Given the description of an element on the screen output the (x, y) to click on. 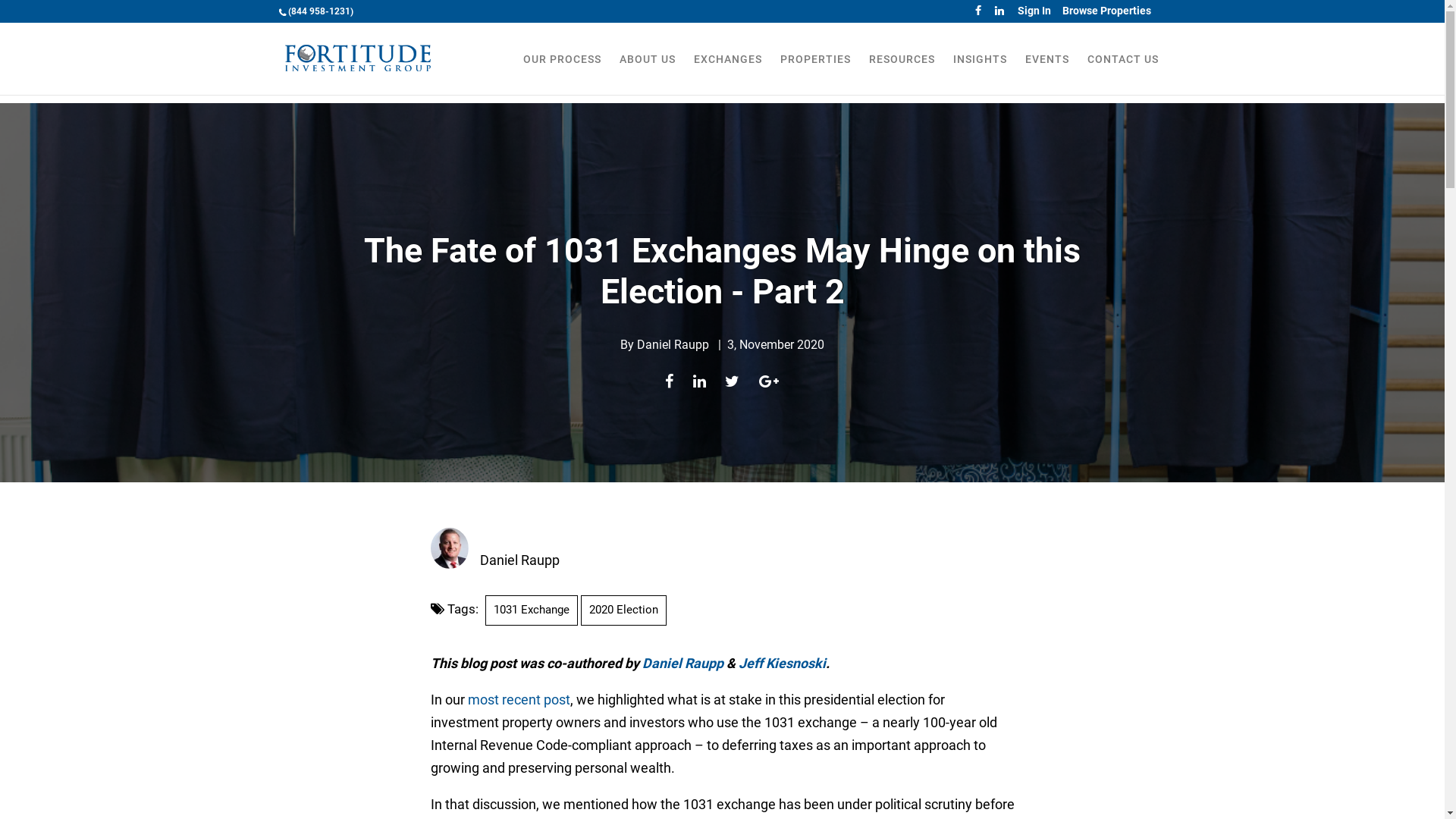
Sign In Element type: text (1034, 10)
INSIGHTS Element type: text (979, 72)
EVENTS Element type: text (1047, 72)
Jeff Kiesnoski Element type: text (781, 663)
ABOUT US Element type: text (646, 72)
1031 Exchange Element type: text (531, 610)
Daniel Raupp Element type: text (683, 663)
Frotitude-Invesment-Group Element type: hover (357, 57)
  Element type: text (1000, 10)
OUR PROCESS Element type: text (562, 72)
most recent post Element type: text (518, 699)
Daniel Raupp Element type: text (673, 344)
RESOURCES Element type: text (902, 72)
2020 Election Element type: text (623, 610)
  Element type: text (979, 10)
EXCHANGES Element type: text (727, 72)
CONTACT US Element type: text (1122, 72)
Browse Properties Element type: text (1105, 10)
Daniel Raupp Element type: text (518, 559)
PROPERTIES Element type: text (814, 72)
